Given the description of an element on the screen output the (x, y) to click on. 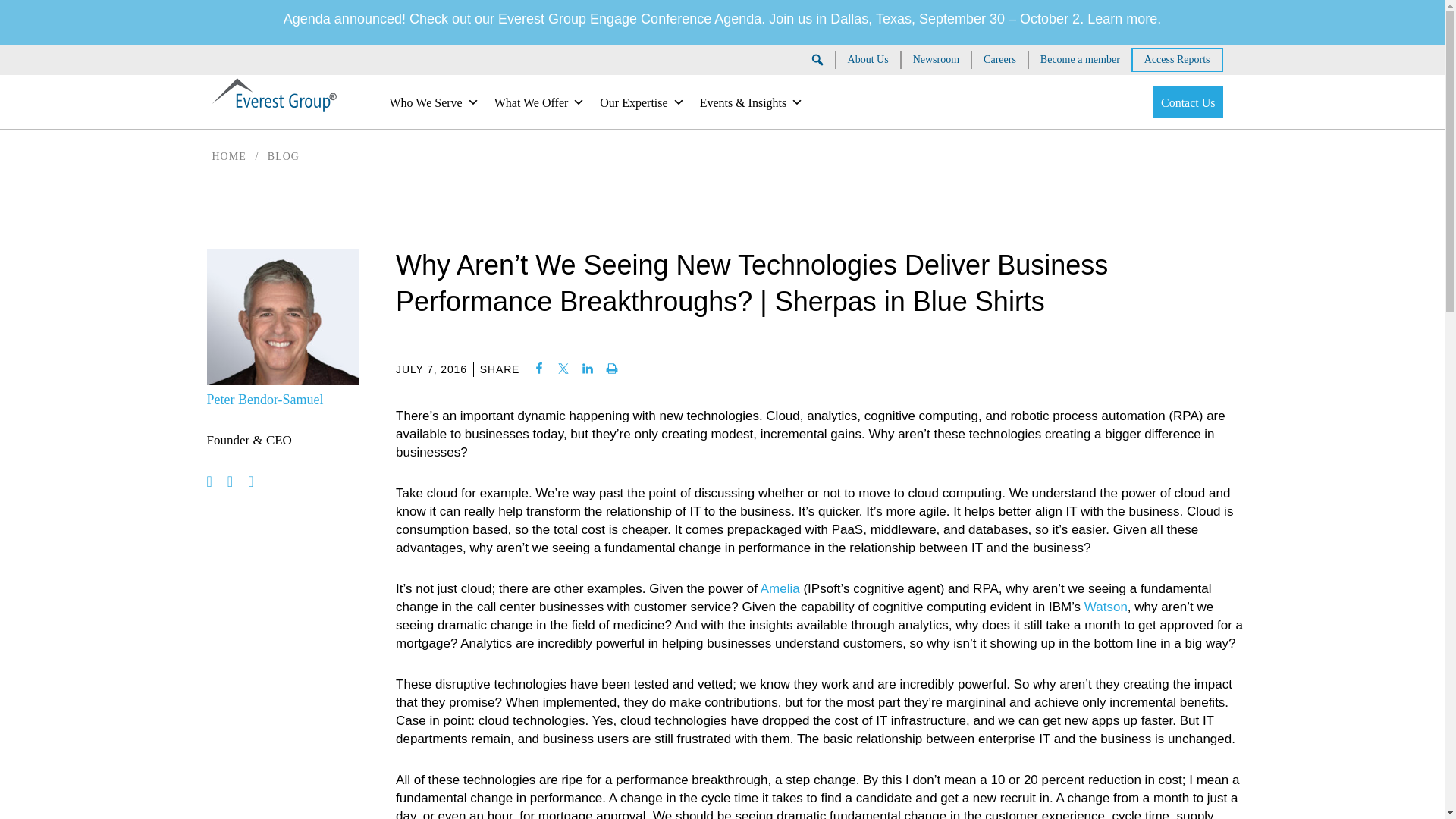
Become a member (1080, 59)
Print this Page (611, 368)
Peter Bendor-Samuel 2 (282, 316)
Newsroom (935, 59)
Who We Serve (433, 101)
Share on Facebook (539, 368)
Search (25, 11)
Careers (1000, 59)
About Us (867, 59)
Access Reports (1177, 59)
